Given the description of an element on the screen output the (x, y) to click on. 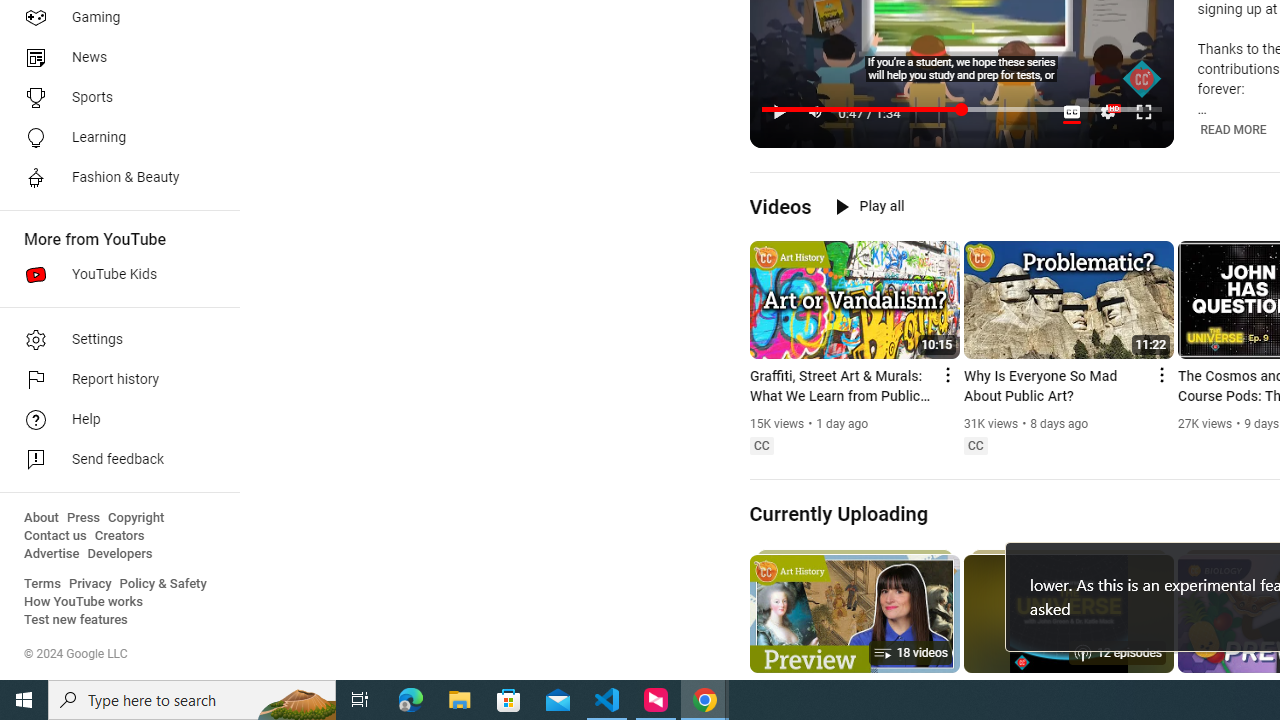
News (113, 57)
Channel watermark (1141, 79)
YouTube Kids (113, 274)
Developers (120, 554)
Press (83, 518)
Learning (113, 137)
Report history (113, 380)
